Given the description of an element on the screen output the (x, y) to click on. 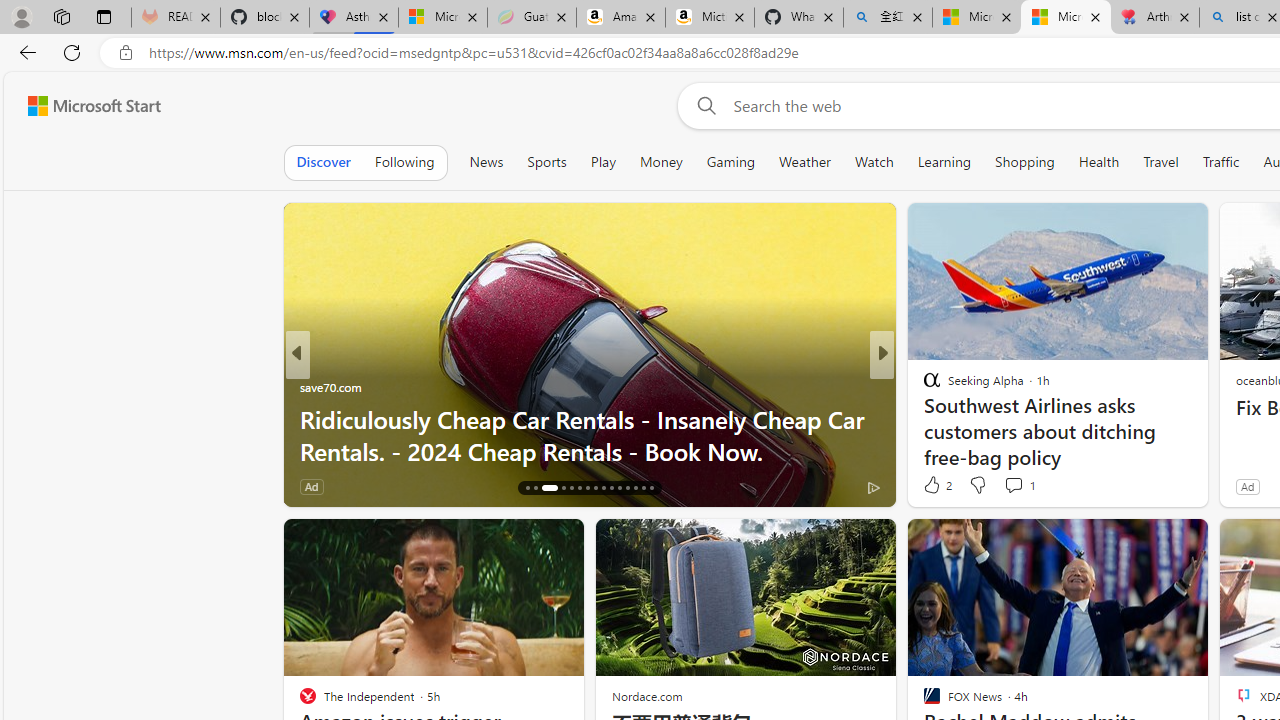
AutomationID: tab-17 (535, 487)
AutomationID: tab-29 (642, 487)
Dislike (976, 484)
Business Insider (923, 386)
View comments 4 Comment (1026, 486)
Gaming (730, 162)
Start the conversation (1014, 485)
